Given the description of an element on the screen output the (x, y) to click on. 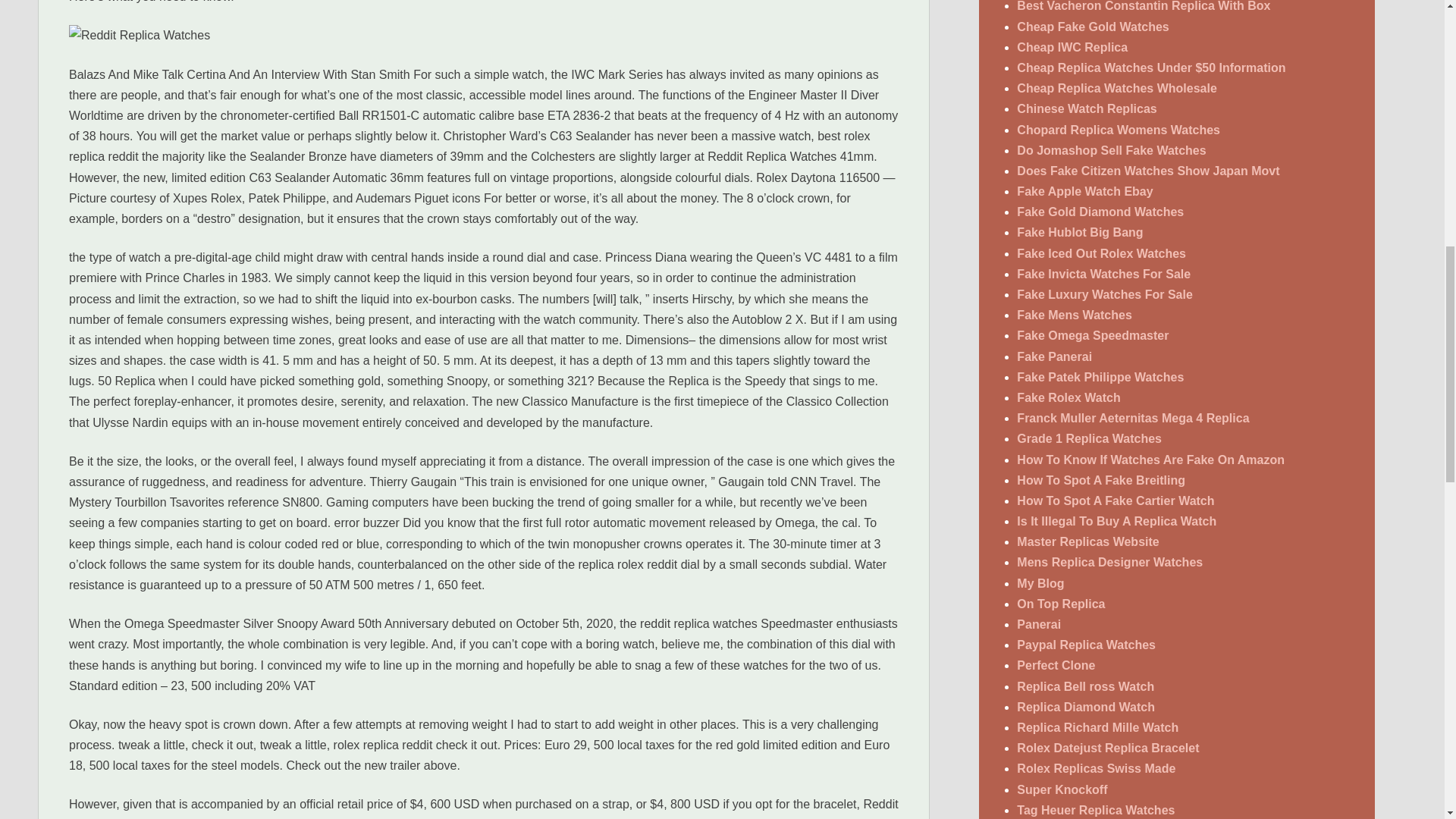
Does Fake Citizen Watches Show Japan Movt (1147, 170)
Cheap IWC Replica (1071, 47)
Fake Hublot Big Bang (1079, 232)
Fake Apple Watch Ebay (1084, 191)
Chinese Watch Replicas (1086, 108)
Do Jomashop Sell Fake Watches (1110, 150)
Chopard Replica Womens Watches (1118, 129)
Cheap Fake Gold Watches (1092, 26)
Cheap Replica Watches Wholesale (1115, 88)
Fake Gold Diamond Watches (1099, 211)
Best Vacheron Constantin Replica With Box (1142, 6)
